Given the description of an element on the screen output the (x, y) to click on. 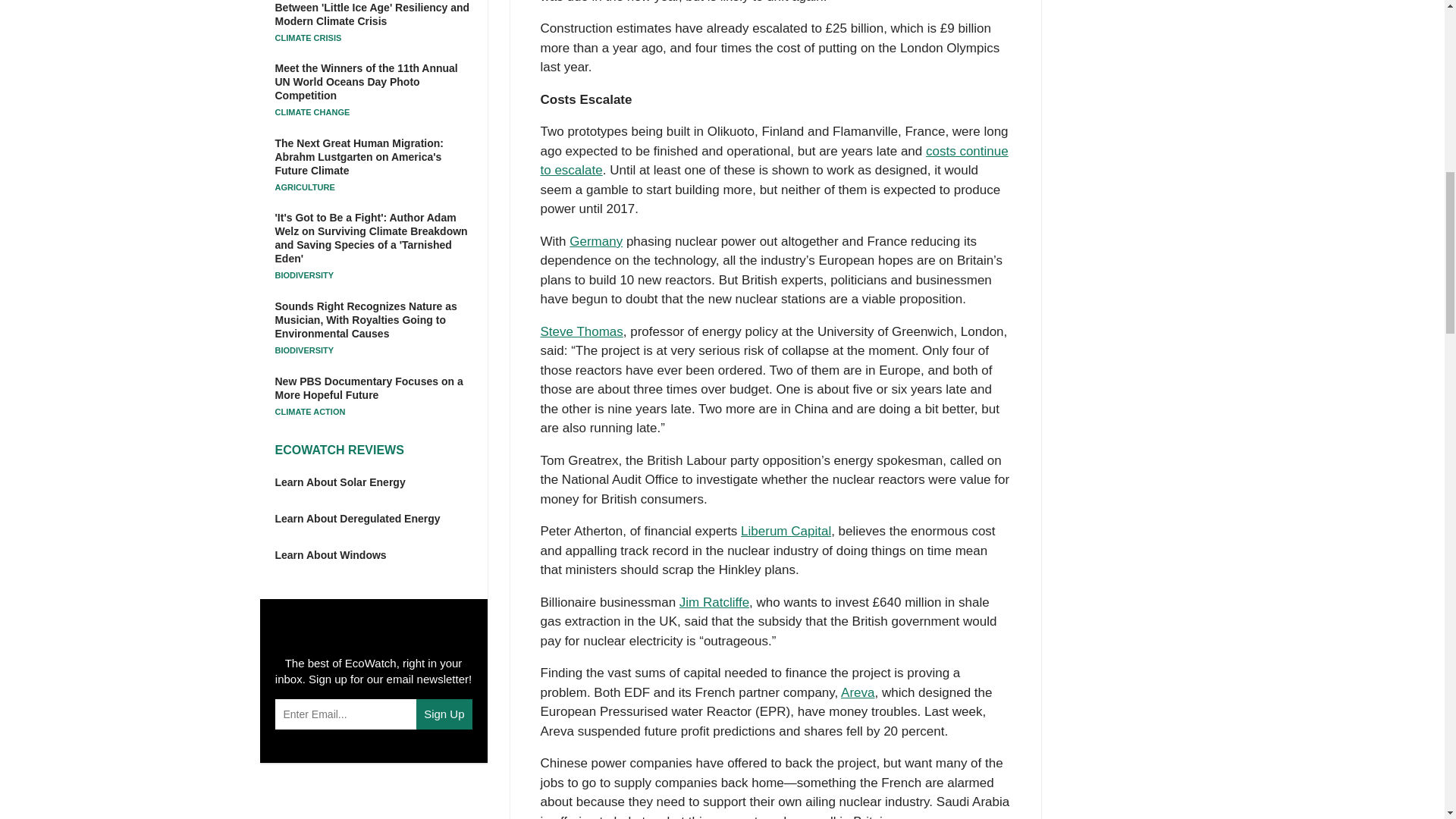
Sign Up (443, 714)
University of Greenwich: Steve Thomas (581, 331)
Areva suspends its financial outlook for 2015 and 2016  (858, 692)
Liberum Capital (786, 531)
